Given the description of an element on the screen output the (x, y) to click on. 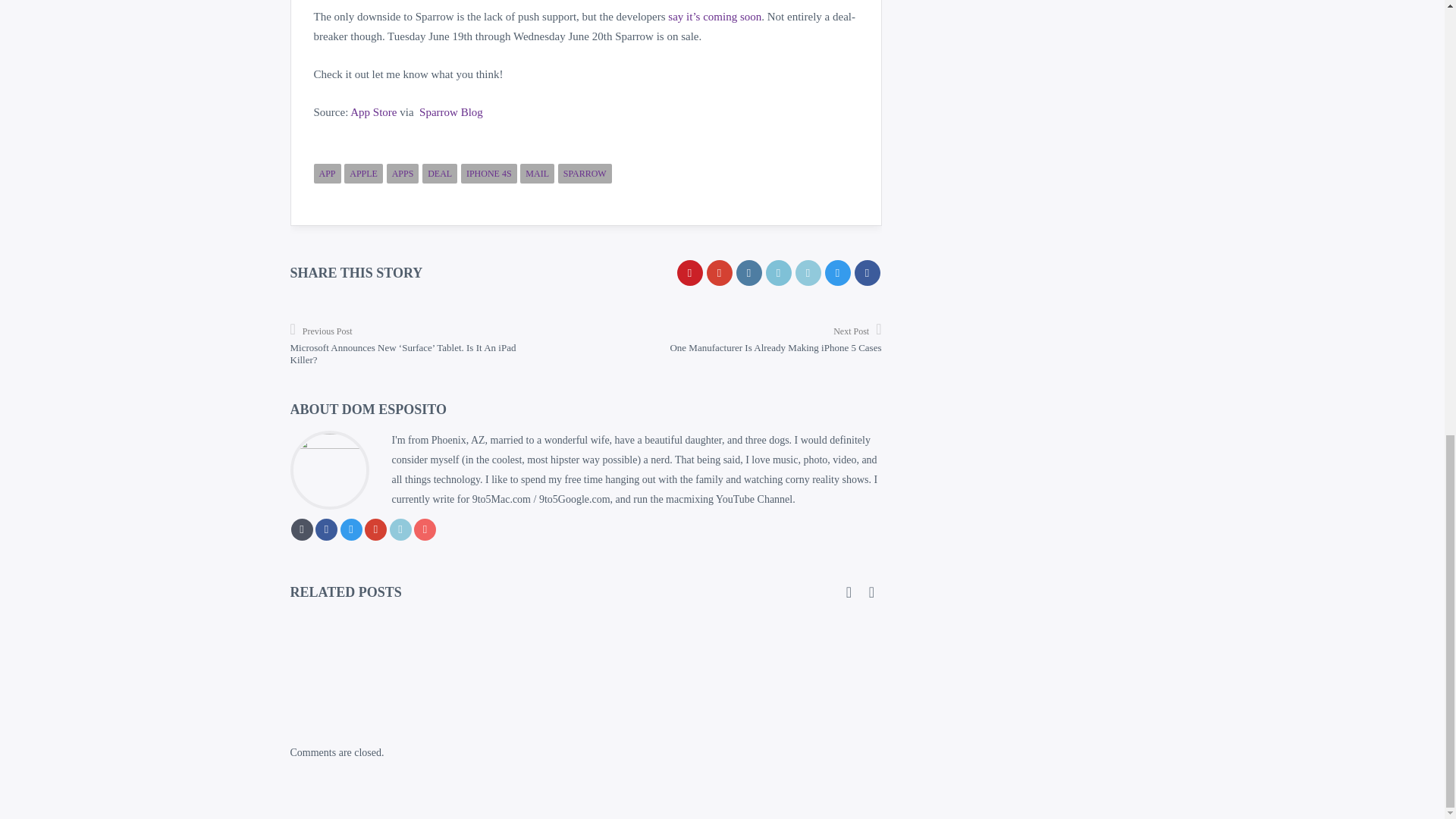
reddit (778, 272)
tumblr (748, 272)
google (719, 272)
facebook (866, 272)
twitter (837, 272)
linkedin (807, 272)
